Given the description of an element on the screen output the (x, y) to click on. 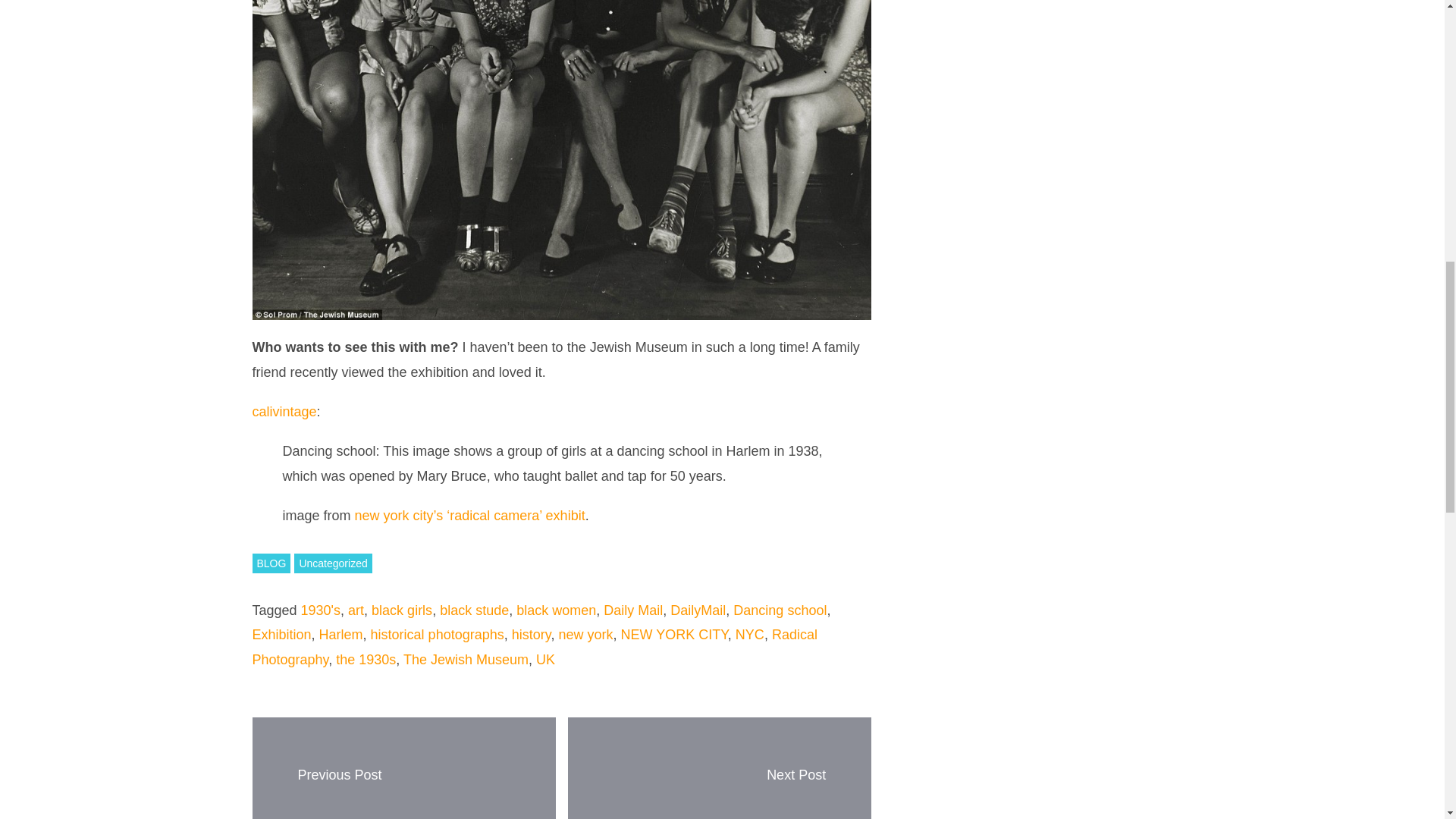
NYC (749, 634)
black stude (473, 610)
NEW YORK CITY (673, 634)
art (355, 610)
Uncategorized (332, 563)
BLOG (270, 563)
Previous Post (339, 774)
Dancing school (780, 610)
Daily Mail (633, 610)
historical photographs (437, 634)
